Given the description of an element on the screen output the (x, y) to click on. 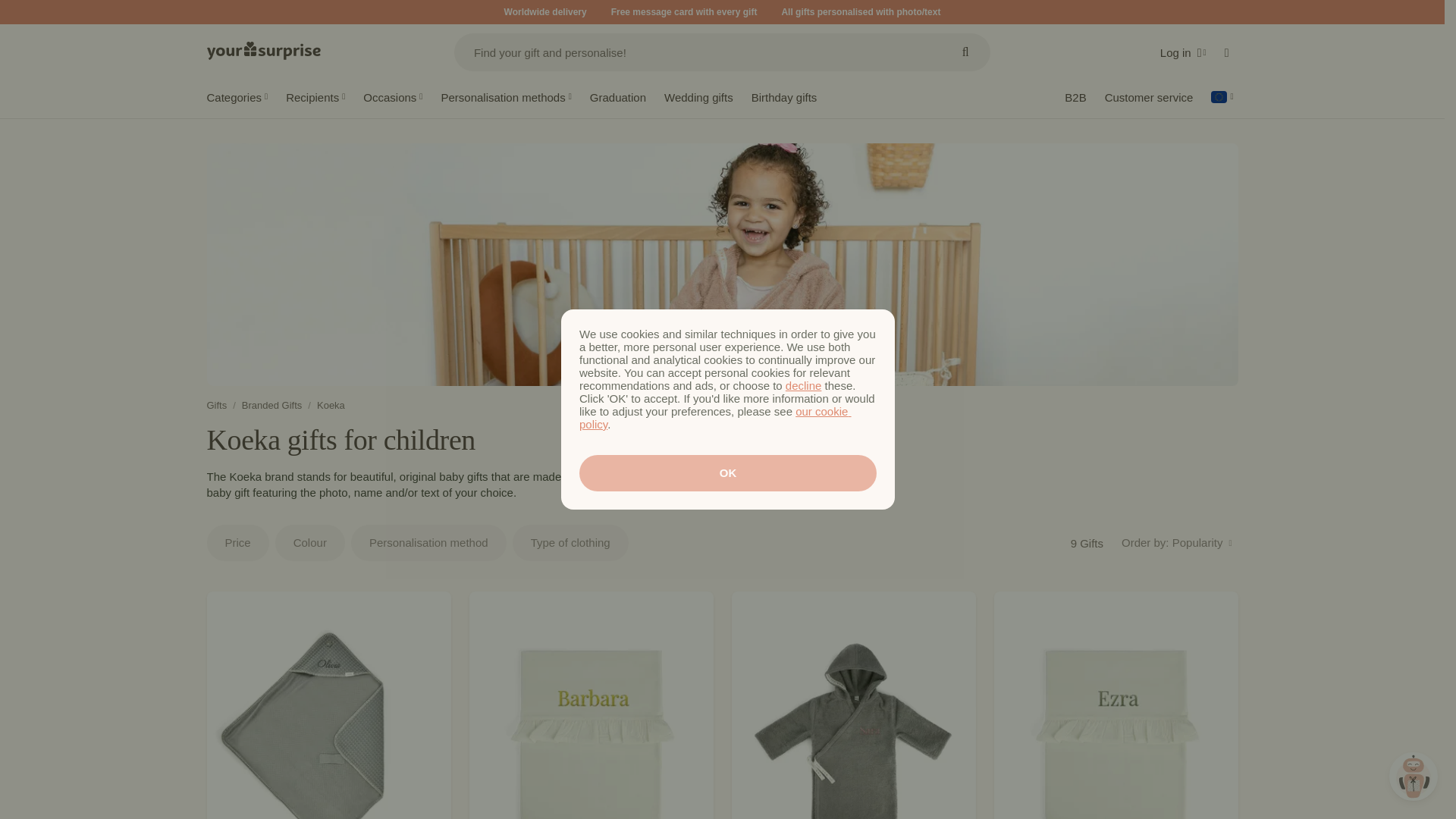
Embroidered bassinet sheet - Ruffle (1114, 705)
Embroidered cot sheet - Ruffle (590, 705)
Categories (236, 98)
Baby bath towel - Waffle fabric - Steel grey (327, 705)
YourSurprise (1154, 545)
OK (263, 50)
Log in (727, 473)
our cookie policy (1183, 51)
